Given the description of an element on the screen output the (x, y) to click on. 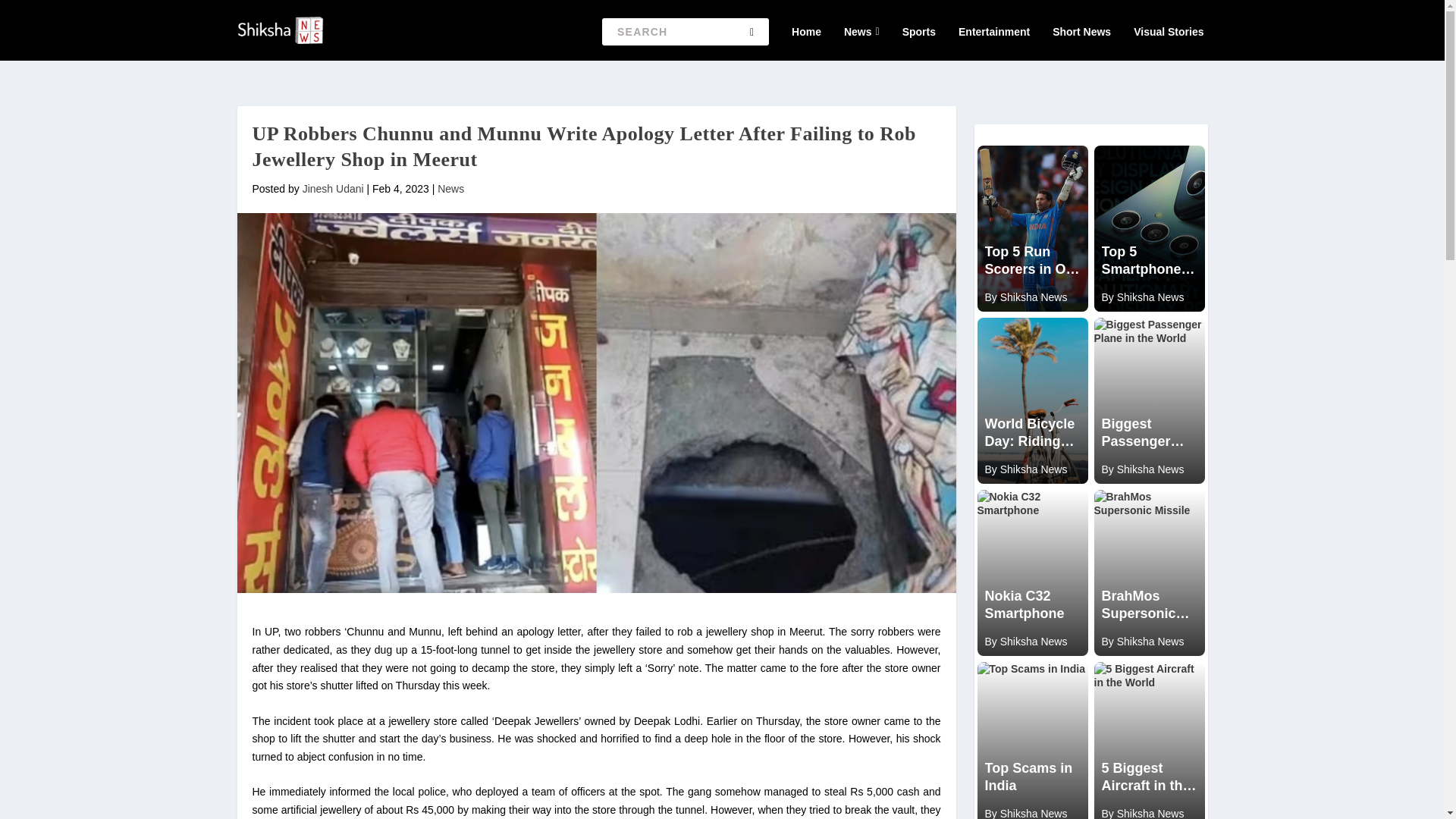
Short News (1081, 31)
Jinesh Udani (333, 188)
Posts by Jinesh Udani (333, 188)
Search for: (685, 31)
Entertainment (993, 31)
News (451, 188)
Visual Stories (1169, 31)
